Given the description of an element on the screen output the (x, y) to click on. 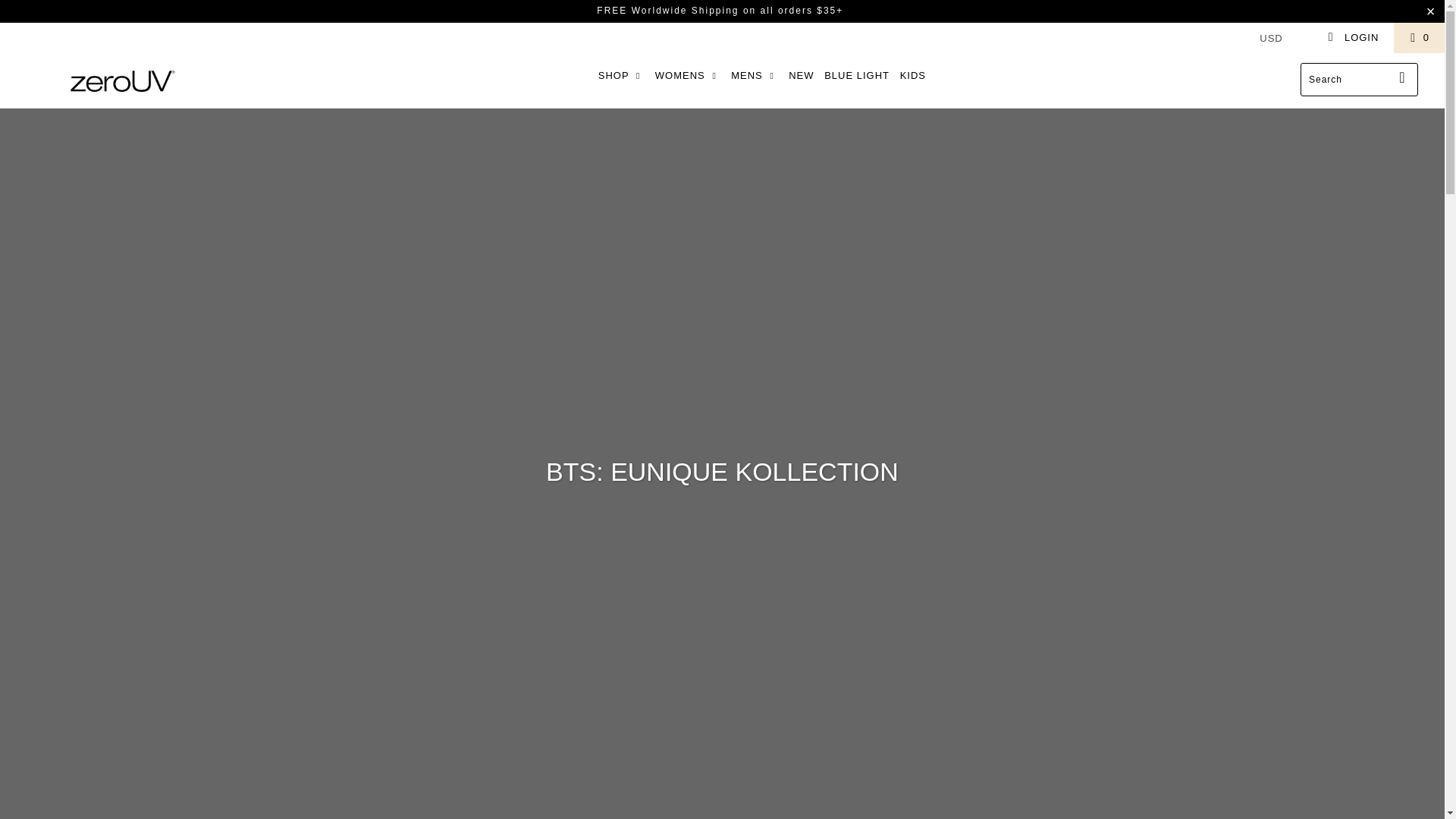
zeroUV (122, 80)
Shipping Rates (667, 9)
My Account  (1352, 37)
